Given the description of an element on the screen output the (x, y) to click on. 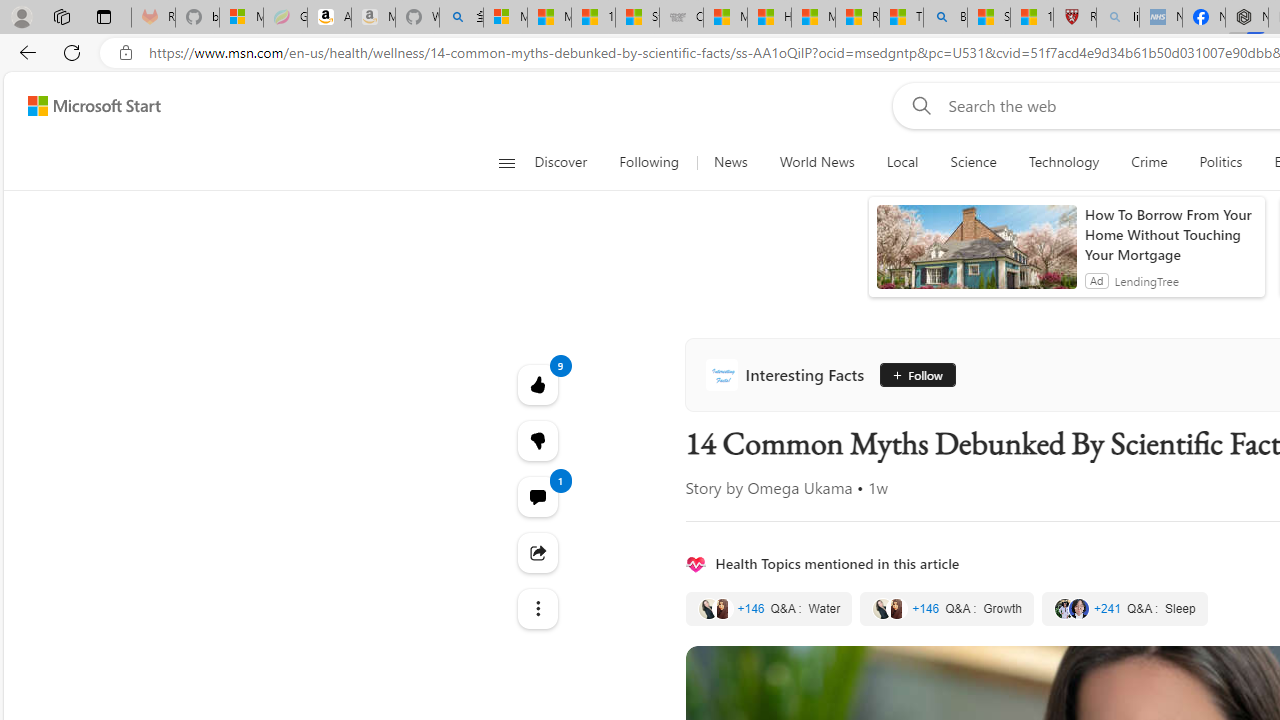
9 (537, 440)
Local (902, 162)
View comments 1 Comment (537, 496)
